Given the description of an element on the screen output the (x, y) to click on. 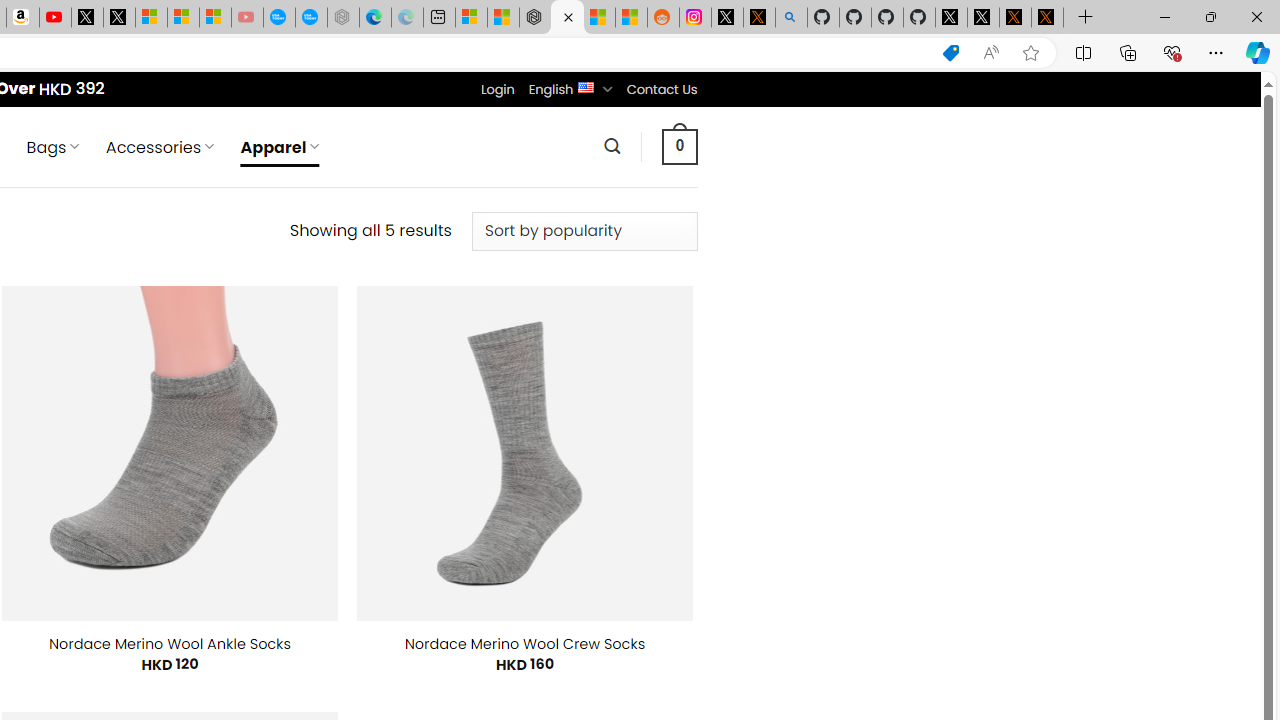
Day 1: Arriving in Yemen (surreal to be here) - YouTube (54, 17)
Login (497, 89)
Shop order (584, 231)
Nordace - Best Sellers (535, 17)
Login (497, 89)
This site has coupons! Shopping in Microsoft Edge (950, 53)
GitHub (@github) / X (983, 17)
